Given the description of an element on the screen output the (x, y) to click on. 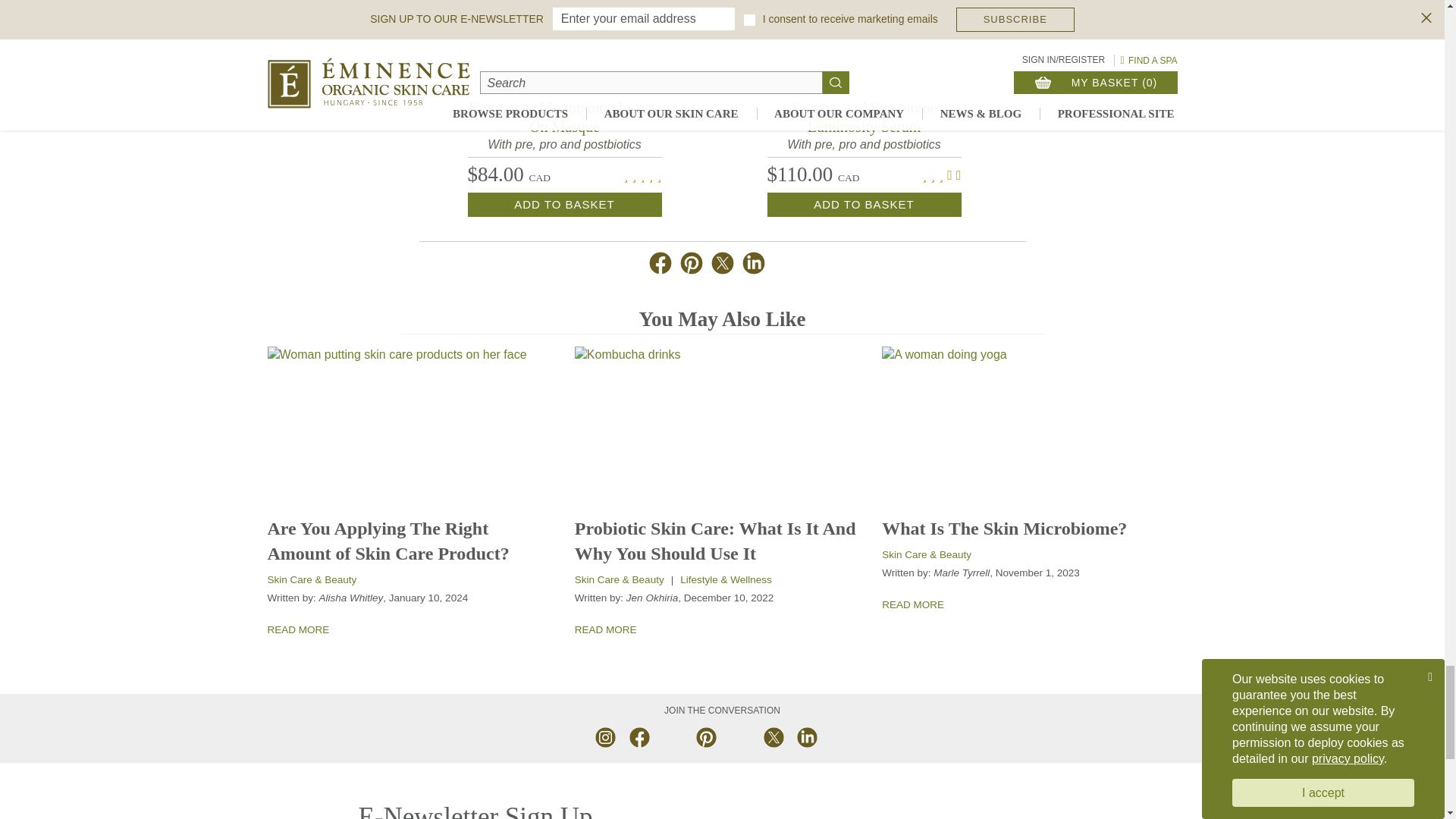
Twitter (772, 735)
Pinterest (705, 735)
Add to basket (564, 204)
Facebook (638, 735)
LinkedIn (805, 735)
Blog (839, 735)
Instagram (604, 735)
YouTube (671, 735)
Add to basket (863, 204)
